Given the description of an element on the screen output the (x, y) to click on. 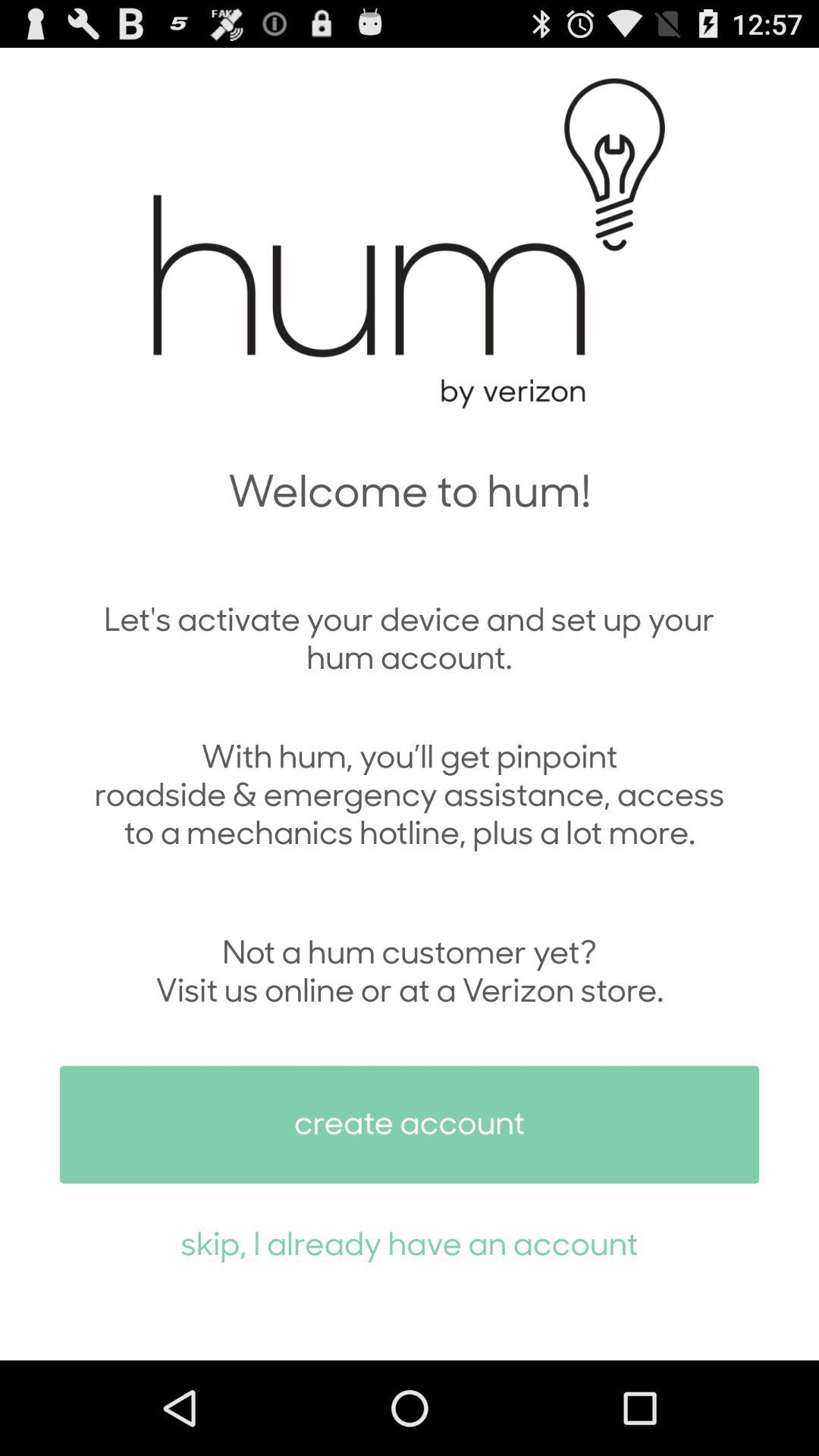
turn off item above skip i already item (409, 1124)
